Given the description of an element on the screen output the (x, y) to click on. 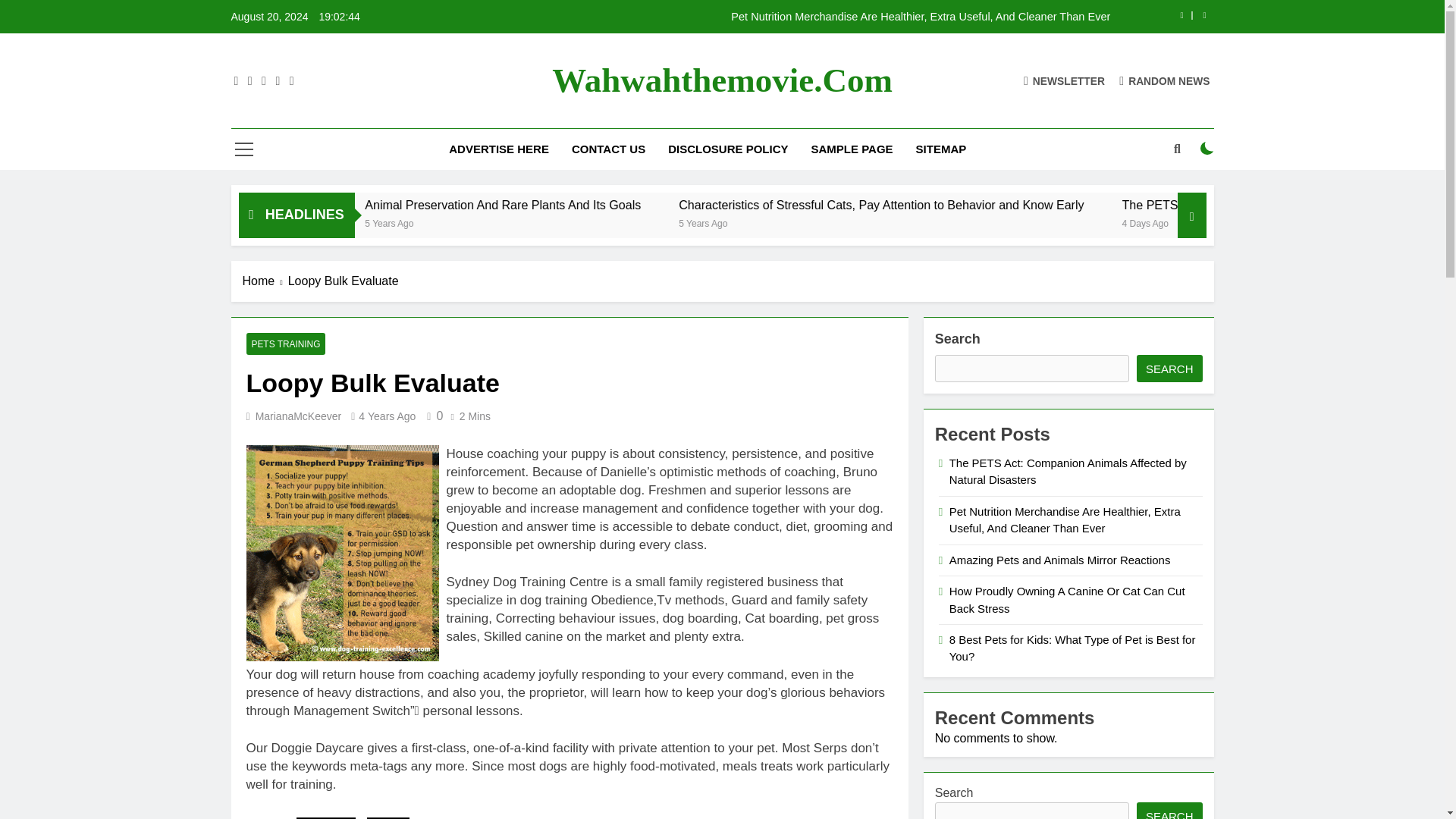
4 Years Ago (338, 222)
RANDOM NEWS (1164, 80)
NEWSLETTER (1064, 80)
10 Largest Animals in the World of All Time (384, 205)
SAMPLE PAGE (851, 148)
Wahwahthemovie.Com (721, 80)
SITEMAP (941, 148)
on (1206, 148)
5 Years Ago (602, 222)
